Given the description of an element on the screen output the (x, y) to click on. 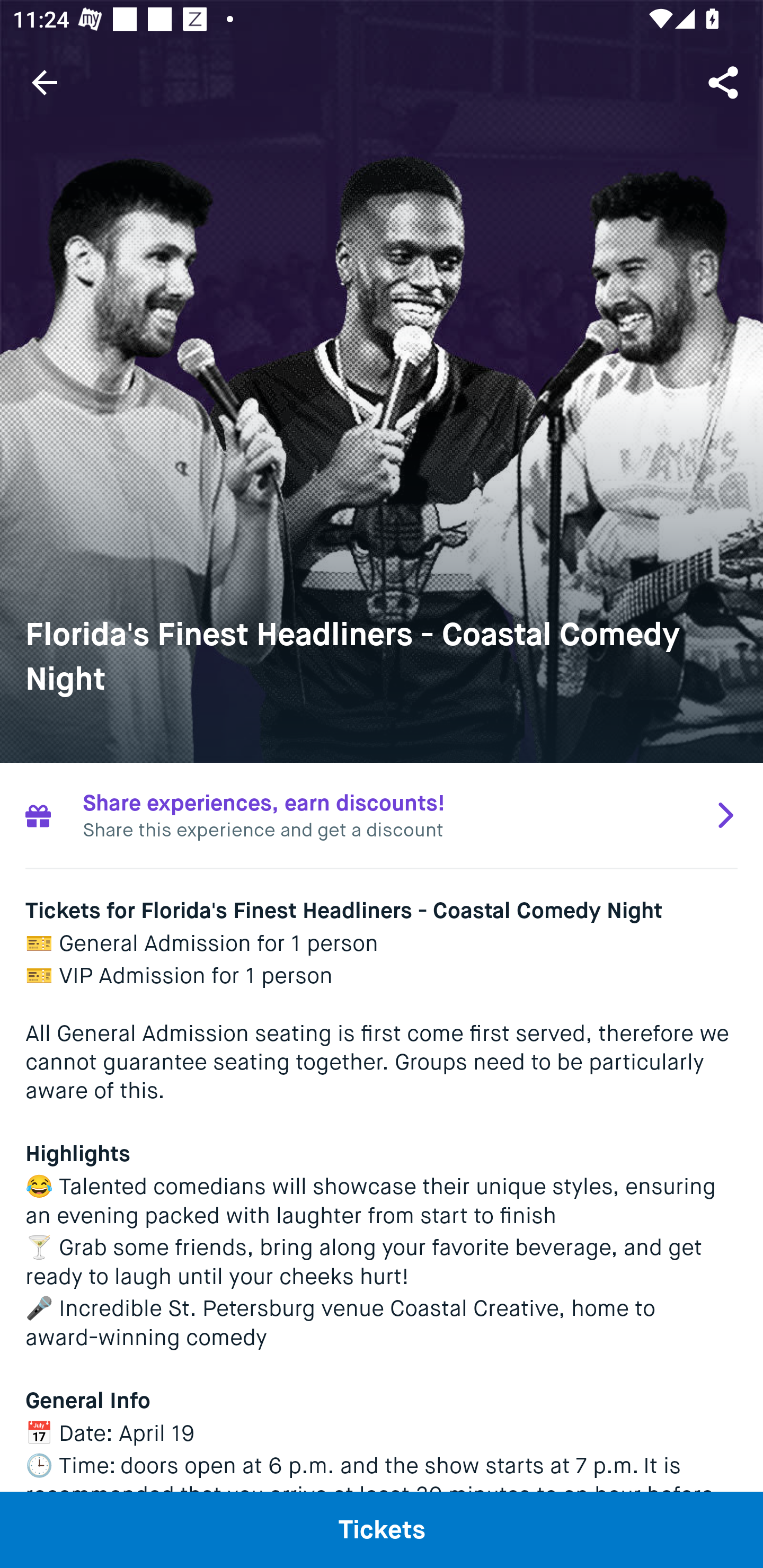
Navigate up (44, 82)
Share (724, 81)
Tickets (381, 1529)
